Given the description of an element on the screen output the (x, y) to click on. 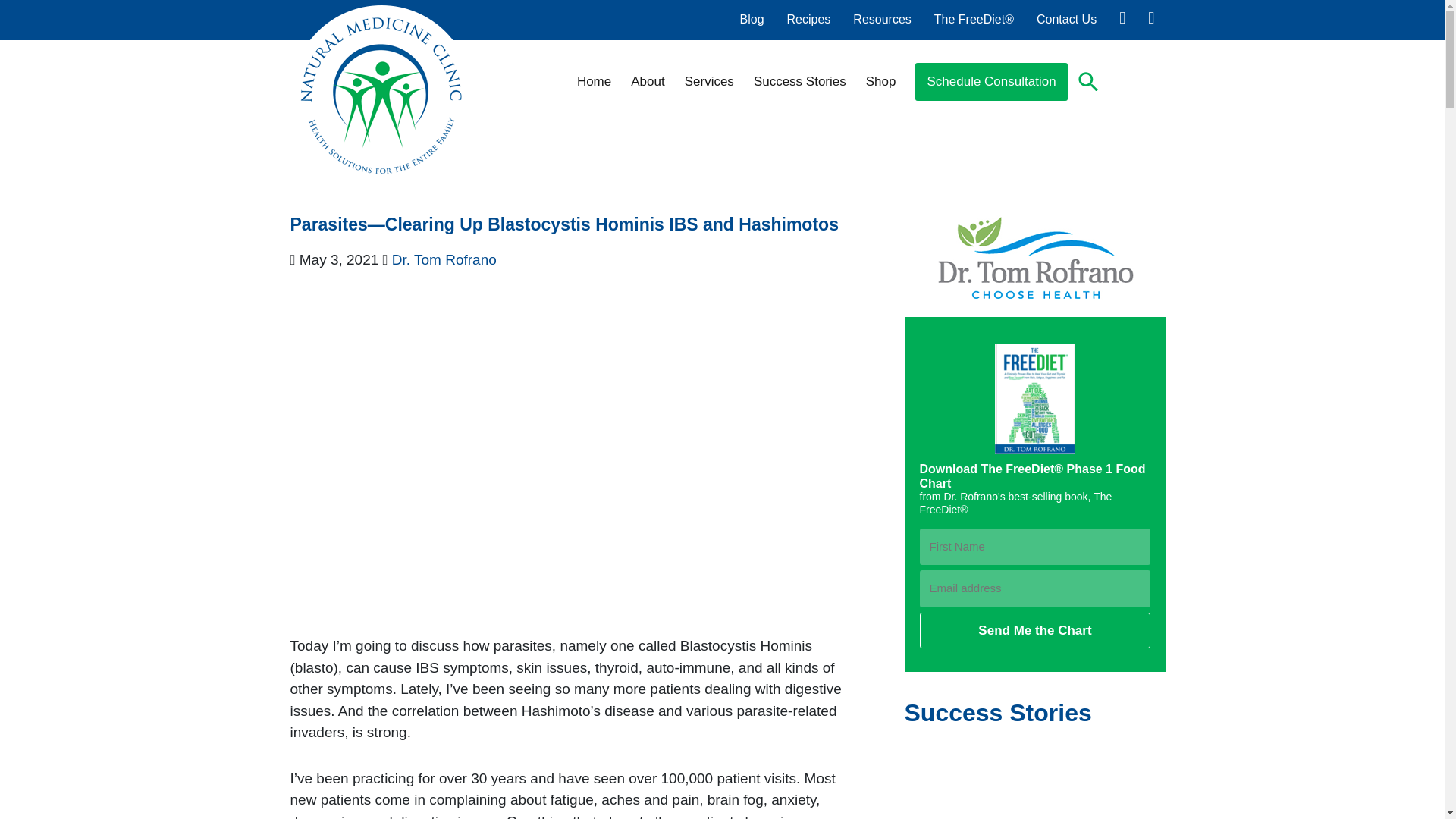
Blog (751, 19)
Schedule Consultation (991, 81)
dr-logo (1034, 258)
Contact Us (1066, 19)
Resources (882, 19)
Posts by Dr. Tom Rofrano (443, 259)
Send Me the Chart (1034, 630)
Dr. Tom Rofrano (443, 259)
Success Stories (799, 81)
Recipes (809, 19)
